Given the description of an element on the screen output the (x, y) to click on. 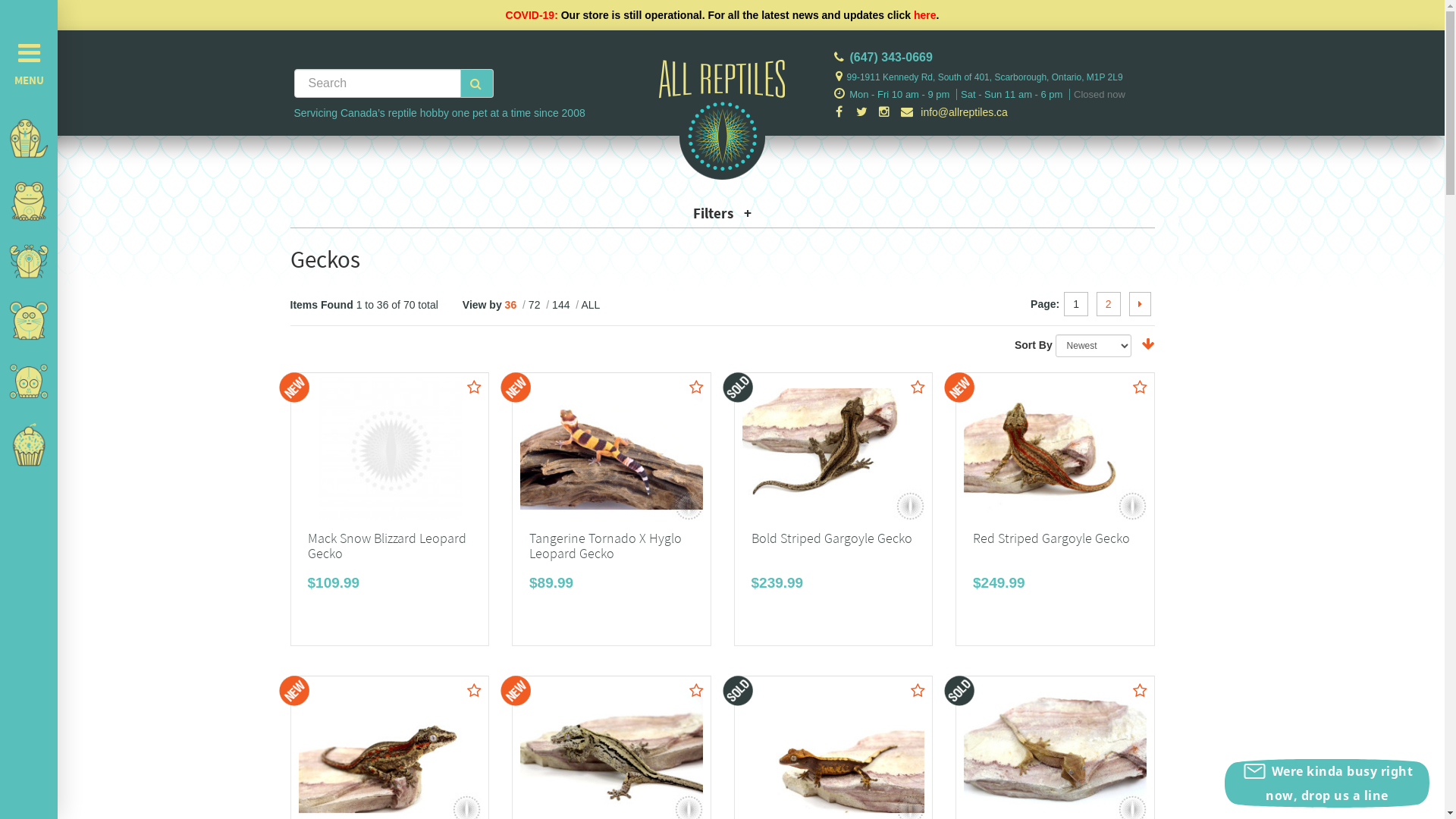
Were kinda busy right now, drop us a line Element type: text (1326, 783)
Mack Snow Blizzard Leopard Gecko Element type: hover (389, 448)
Add to wishlist Element type: hover (695, 691)
Tangerine Tornado X Hyglo Leopard Gecko Element type: hover (611, 448)
Mack Snow Blizzard Leopard Gecko Element type: text (386, 545)
Add to wishlist Element type: hover (695, 387)
Set Ascending Direction Element type: hover (1148, 344)
Red Striped Gargoyle Gecko Element type: hover (1054, 448)
2 Element type: text (1108, 304)
Bold Striped Gargoyle Gecko Element type: hover (832, 448)
Bold Striped Gargoyle Gecko Element type: text (830, 537)
Add to wishlist Element type: hover (474, 387)
Add to wishlist Element type: hover (917, 387)
144 Element type: text (562, 304)
MENU Element type: text (28, 60)
Add to wishlist Element type: hover (1139, 691)
Tangerine Tornado X Hyglo Leopard Gecko Element type: text (605, 545)
72 Element type: text (535, 304)
Add to wishlist Element type: hover (474, 691)
(647) 343-0669 Element type: text (890, 56)
info@allreptiles.ca Element type: text (953, 112)
Add to wishlist Element type: hover (1139, 387)
Red Striped Gargoyle Gecko Element type: text (1050, 537)
ALL Element type: text (589, 304)
36 Element type: text (512, 304)
All Reptiles Element type: text (721, 85)
Add to wishlist Element type: hover (917, 691)
Next Element type: hover (1139, 304)
here Element type: text (924, 15)
